Given the description of an element on the screen output the (x, y) to click on. 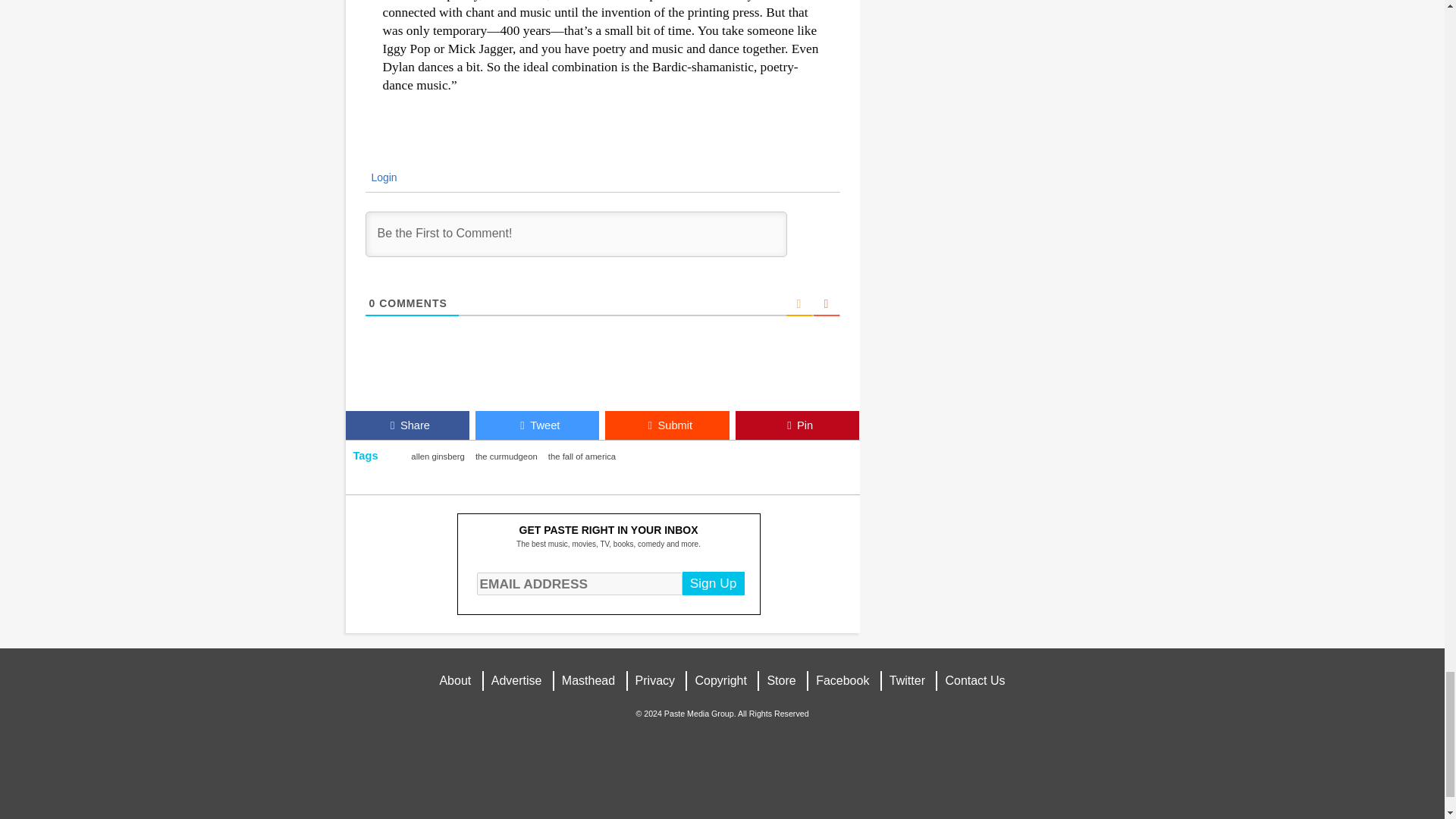
0 (371, 303)
